Given the description of an element on the screen output the (x, y) to click on. 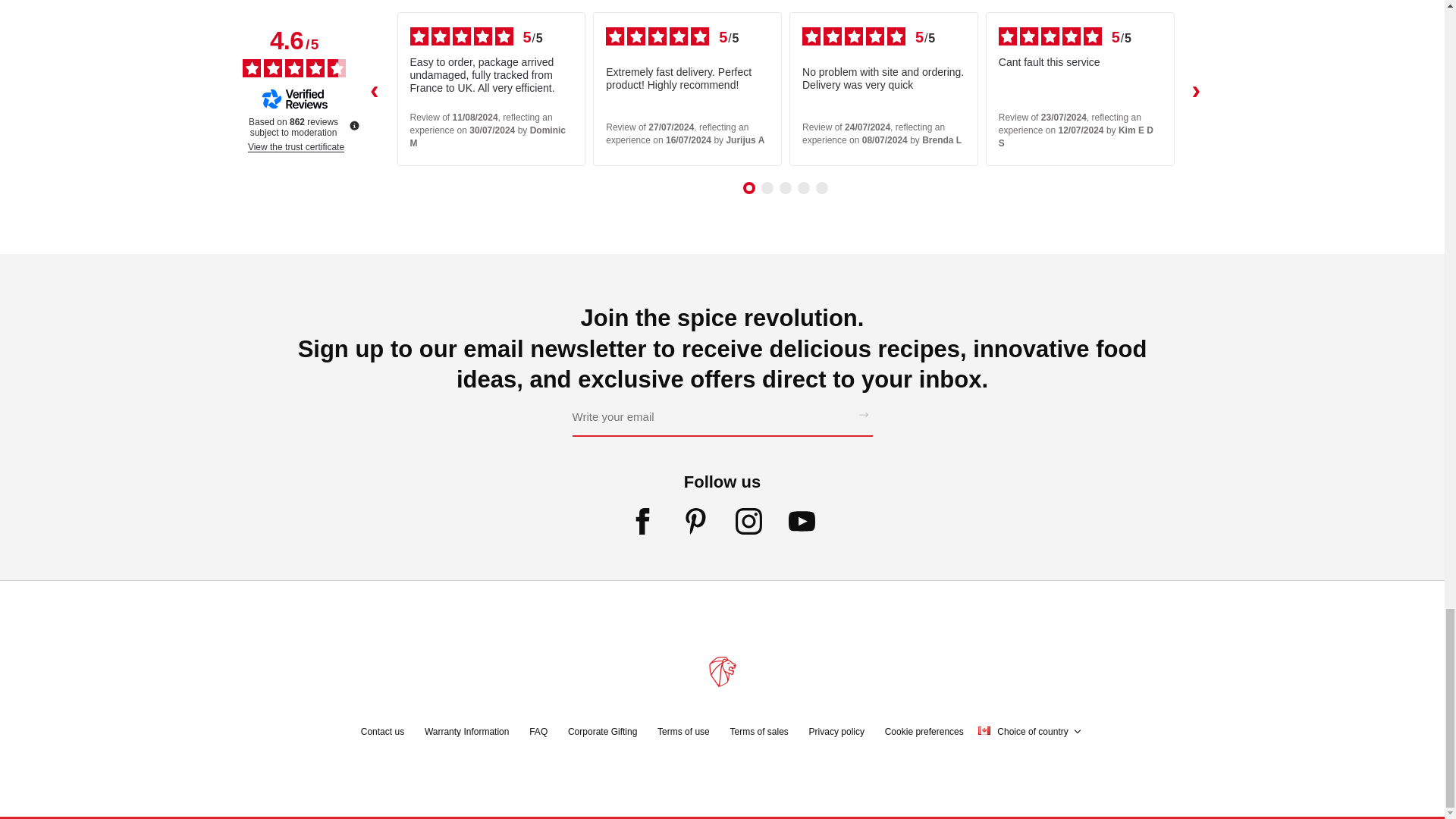
Pinterest (695, 524)
Submit (862, 416)
Facebook (642, 524)
